Given the description of an element on the screen output the (x, y) to click on. 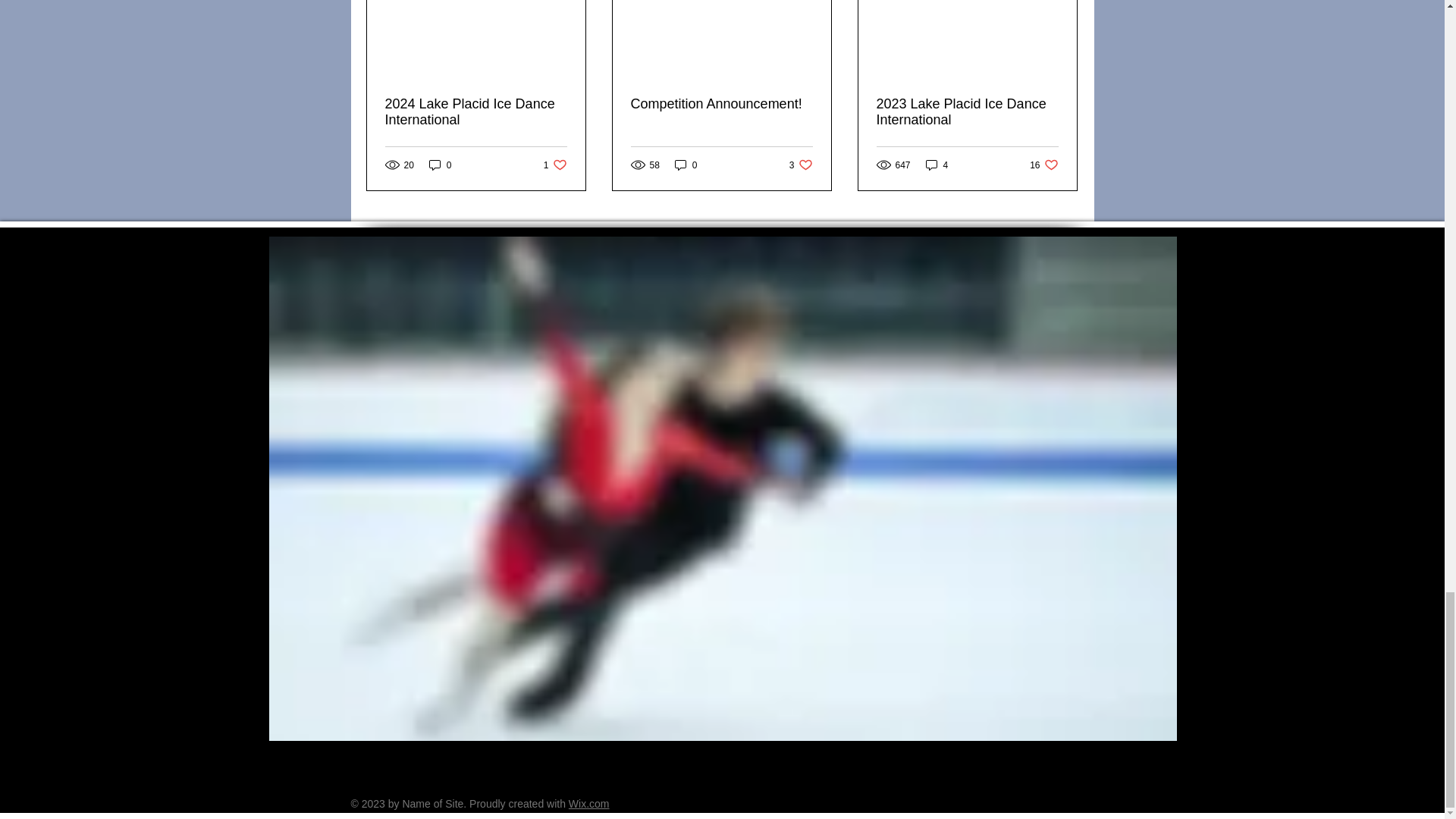
Wix.com (589, 803)
0 (685, 164)
2024 Lake Placid Ice Dance International (1043, 164)
Competition Announcement! (476, 111)
4 (721, 104)
0 (937, 164)
2023 Lake Placid Ice Dance International (800, 164)
